Given the description of an element on the screen output the (x, y) to click on. 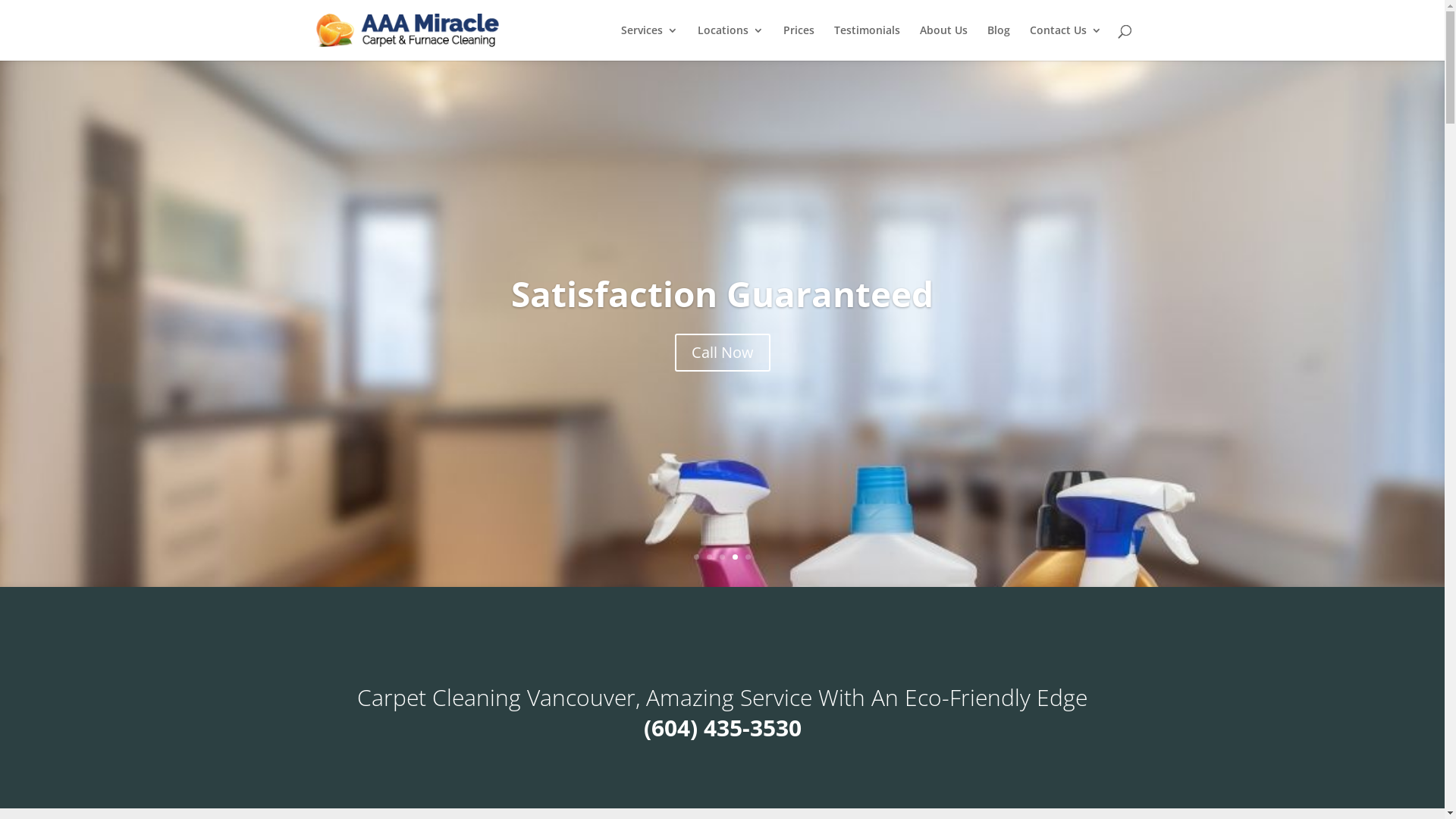
3 Element type: text (721, 556)
2 Element type: text (709, 556)
Blog Element type: text (998, 42)
Learn more Element type: text (722, 364)
Prices Element type: text (797, 42)
Services Element type: text (648, 42)
5 Element type: text (747, 556)
(604) 435-3530 Element type: text (721, 727)
Testimonials Element type: text (867, 42)
About Us Element type: text (942, 42)
4 Element type: text (734, 556)
Full Air Duct and Furnace Cleaning Element type: text (721, 280)
Locations Element type: text (730, 42)
1 Element type: text (696, 556)
Contact Us Element type: text (1065, 42)
